Given the description of an element on the screen output the (x, y) to click on. 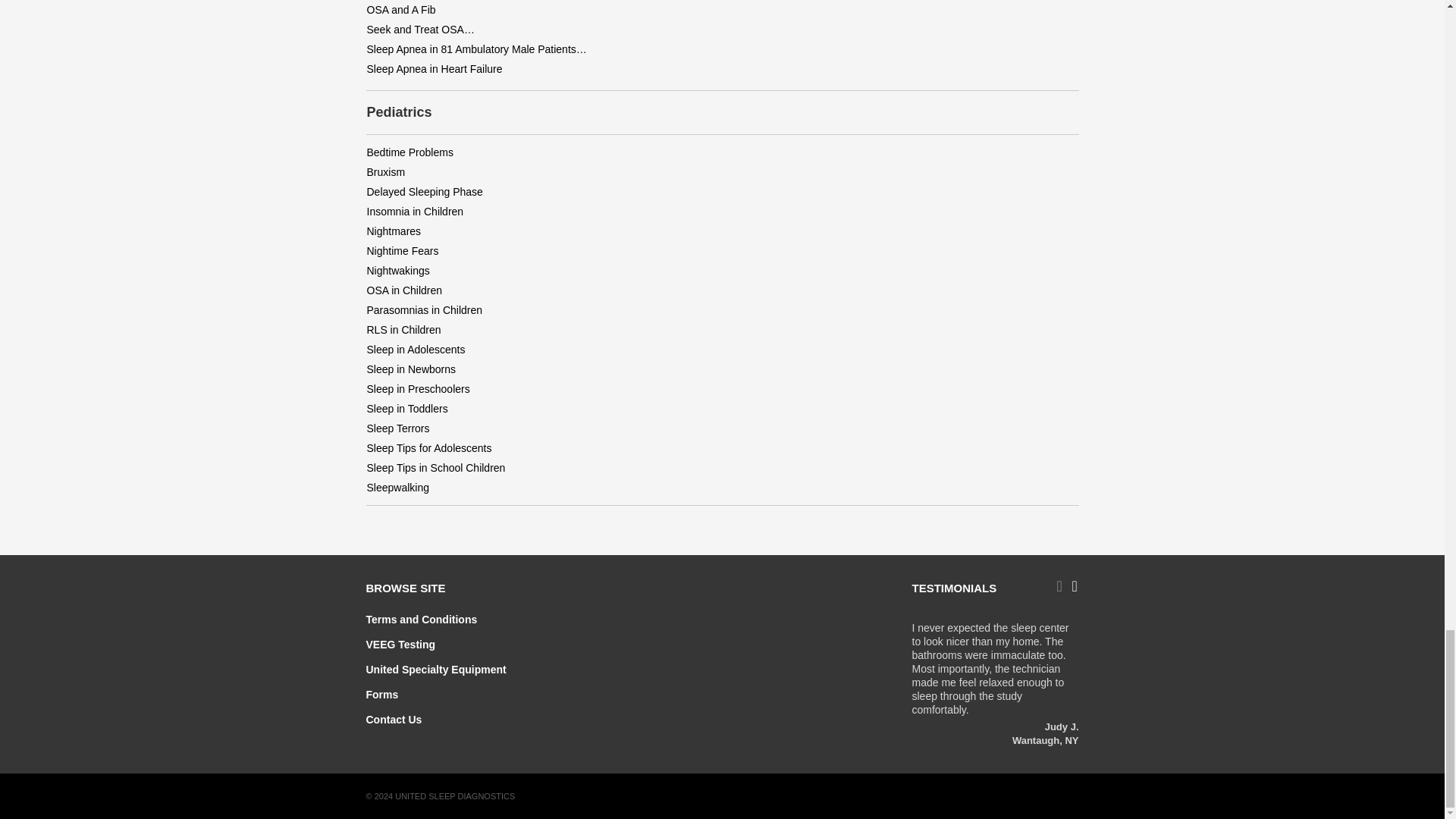
OSA and A Fib (400, 9)
Delayed Sleeping Phase (424, 191)
Sleep Apnea in Heart Failure (434, 69)
Bedtime Problems (409, 152)
Bruxism (386, 172)
